Given the description of an element on the screen output the (x, y) to click on. 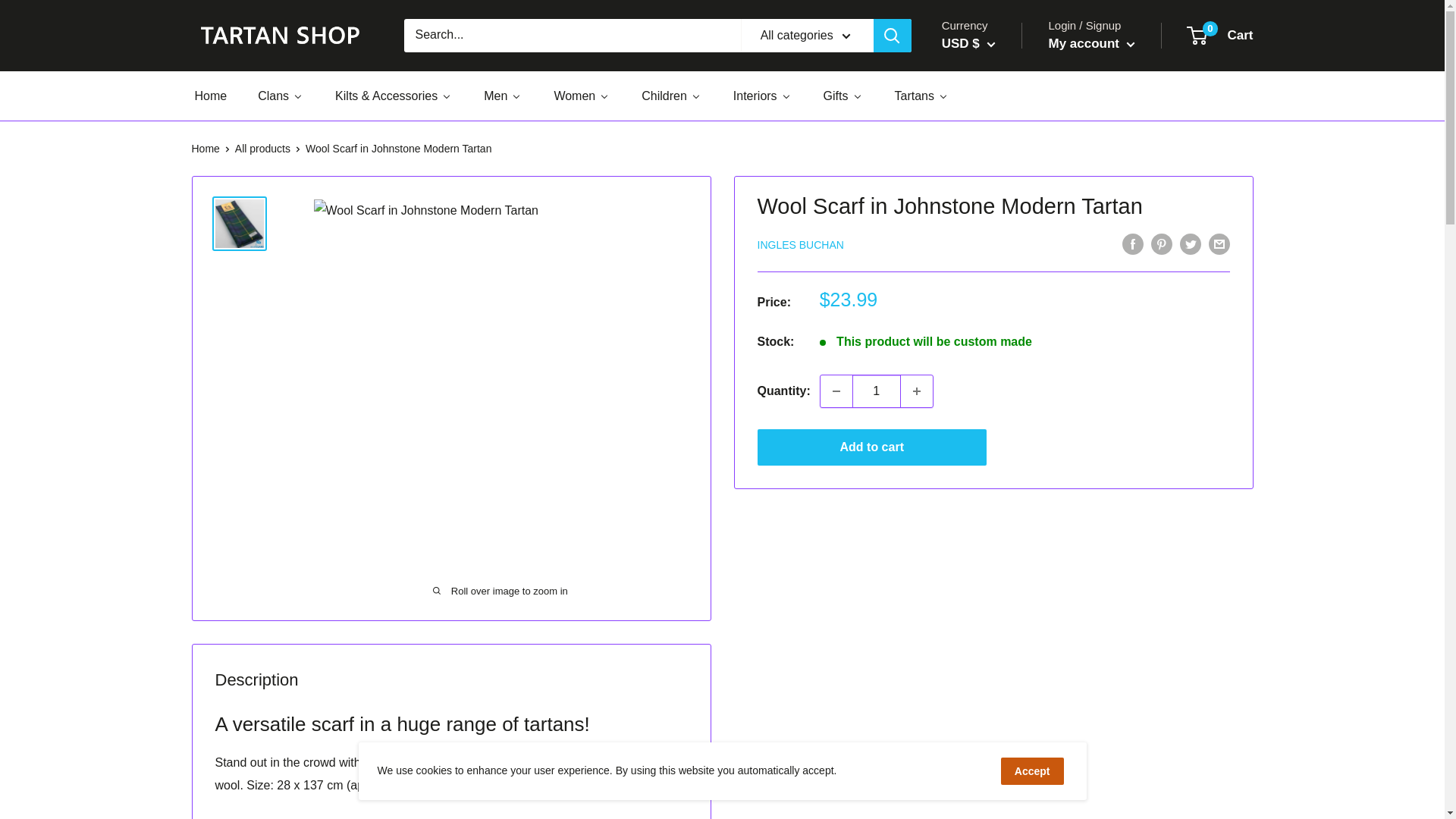
Increase quantity by 1 (917, 391)
1 (876, 391)
Decrease quantity by 1 (836, 391)
